Given the description of an element on the screen output the (x, y) to click on. 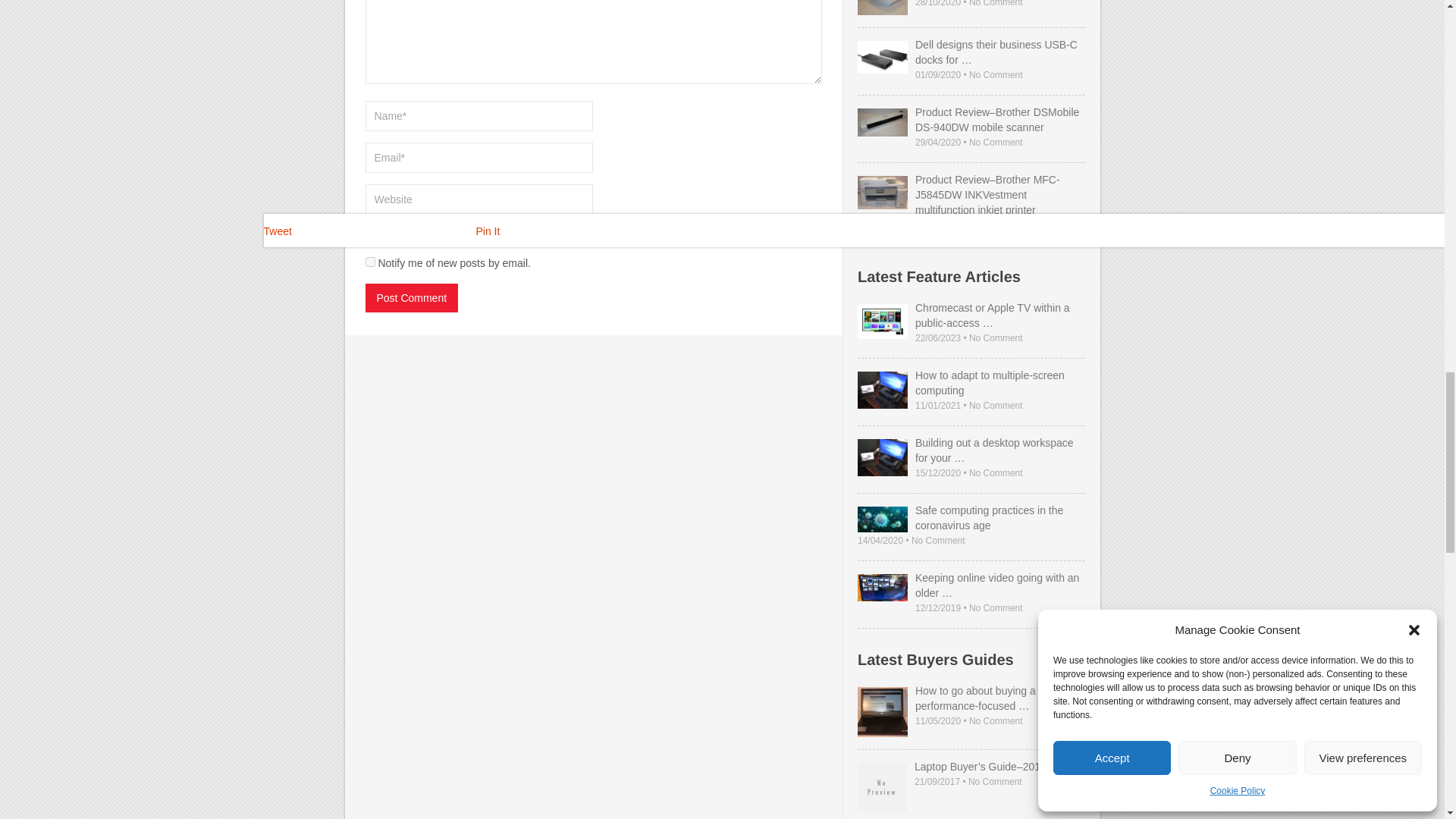
Post Comment (411, 297)
subscribe (370, 233)
subscribe (370, 261)
